Given the description of an element on the screen output the (x, y) to click on. 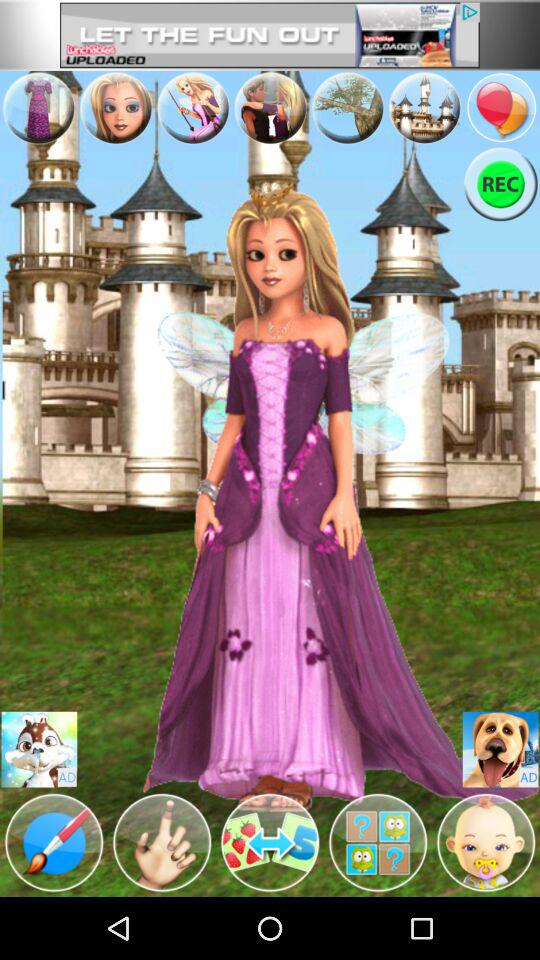
click the app icon (347, 107)
